Given the description of an element on the screen output the (x, y) to click on. 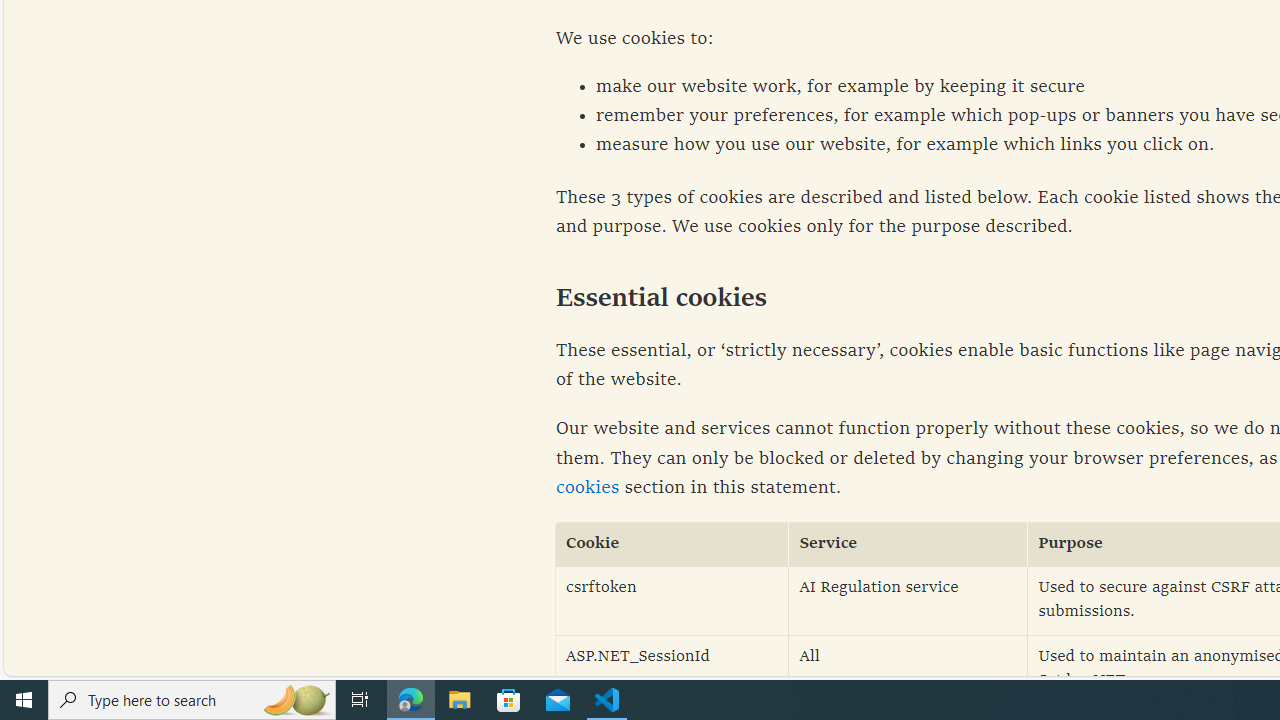
Cookie (671, 544)
All (907, 669)
AI Regulation service (907, 600)
csrftoken (671, 600)
ASP.NET_SessionId (671, 669)
Service (907, 544)
